Given the description of an element on the screen output the (x, y) to click on. 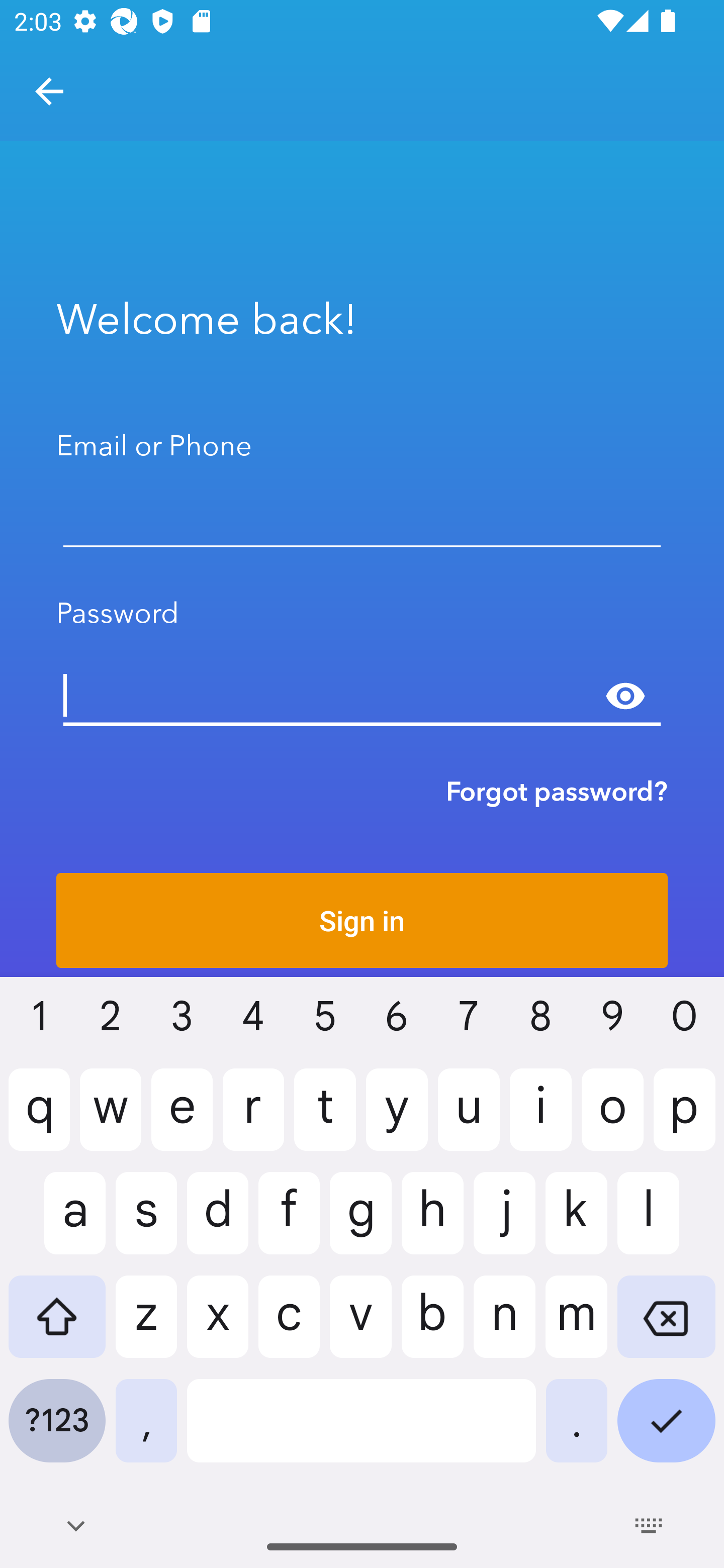
Navigate up (49, 91)
Show password (625, 695)
Forgot password? (556, 790)
Sign in (361, 920)
